Given the description of an element on the screen output the (x, y) to click on. 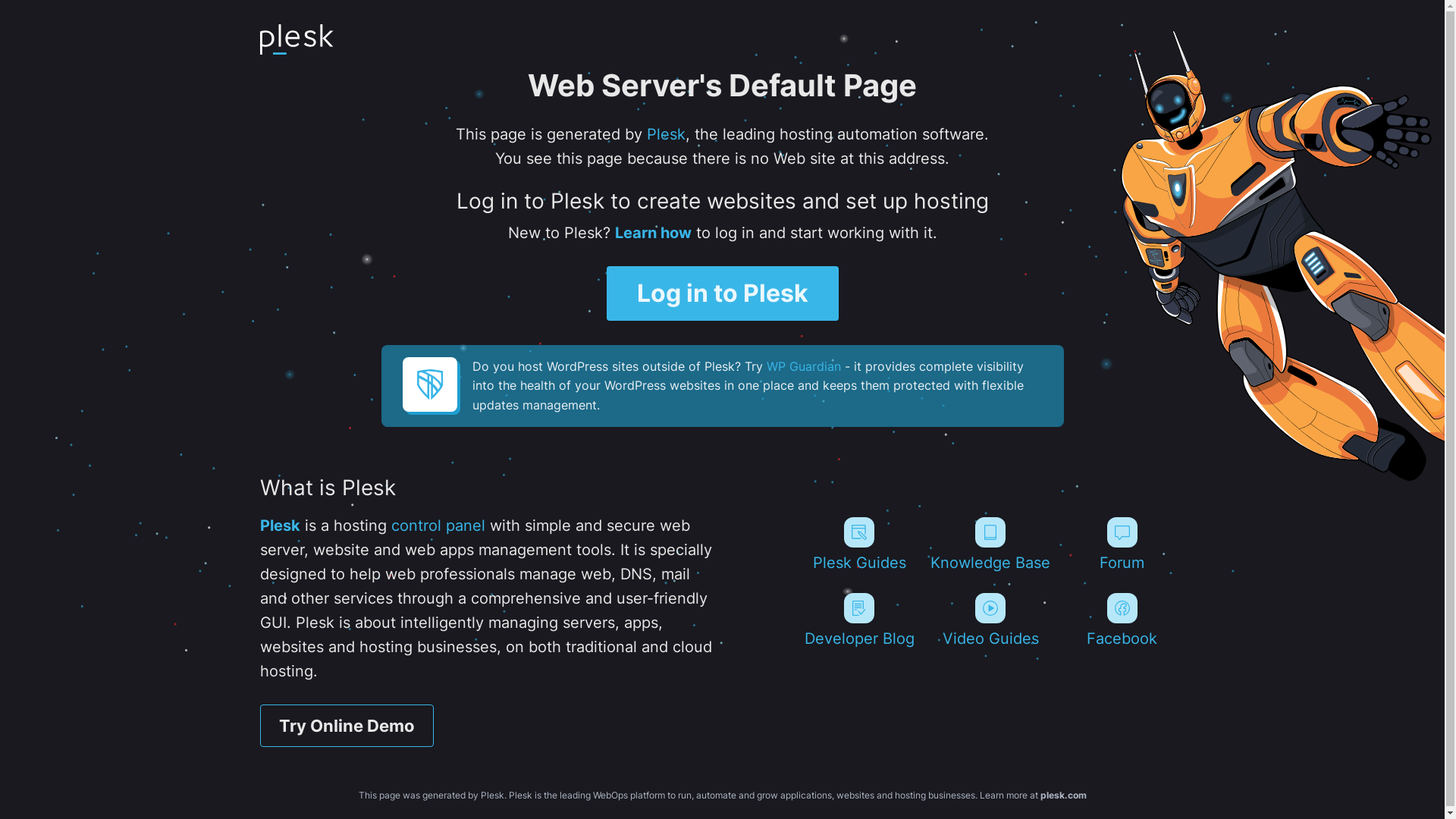
Learn how Element type: text (652, 232)
WP Guardian Element type: text (802, 365)
Plesk Guides Element type: text (858, 544)
Facebook Element type: text (1121, 620)
plesk.com Element type: text (1063, 794)
Forum Element type: text (1121, 544)
Log in to Plesk Element type: text (722, 293)
control panel Element type: text (438, 525)
Video Guides Element type: text (990, 620)
Plesk Element type: text (279, 525)
Try Online Demo Element type: text (346, 725)
Knowledge Base Element type: text (990, 544)
Plesk Element type: text (665, 134)
Developer Blog Element type: text (858, 620)
